Given the description of an element on the screen output the (x, y) to click on. 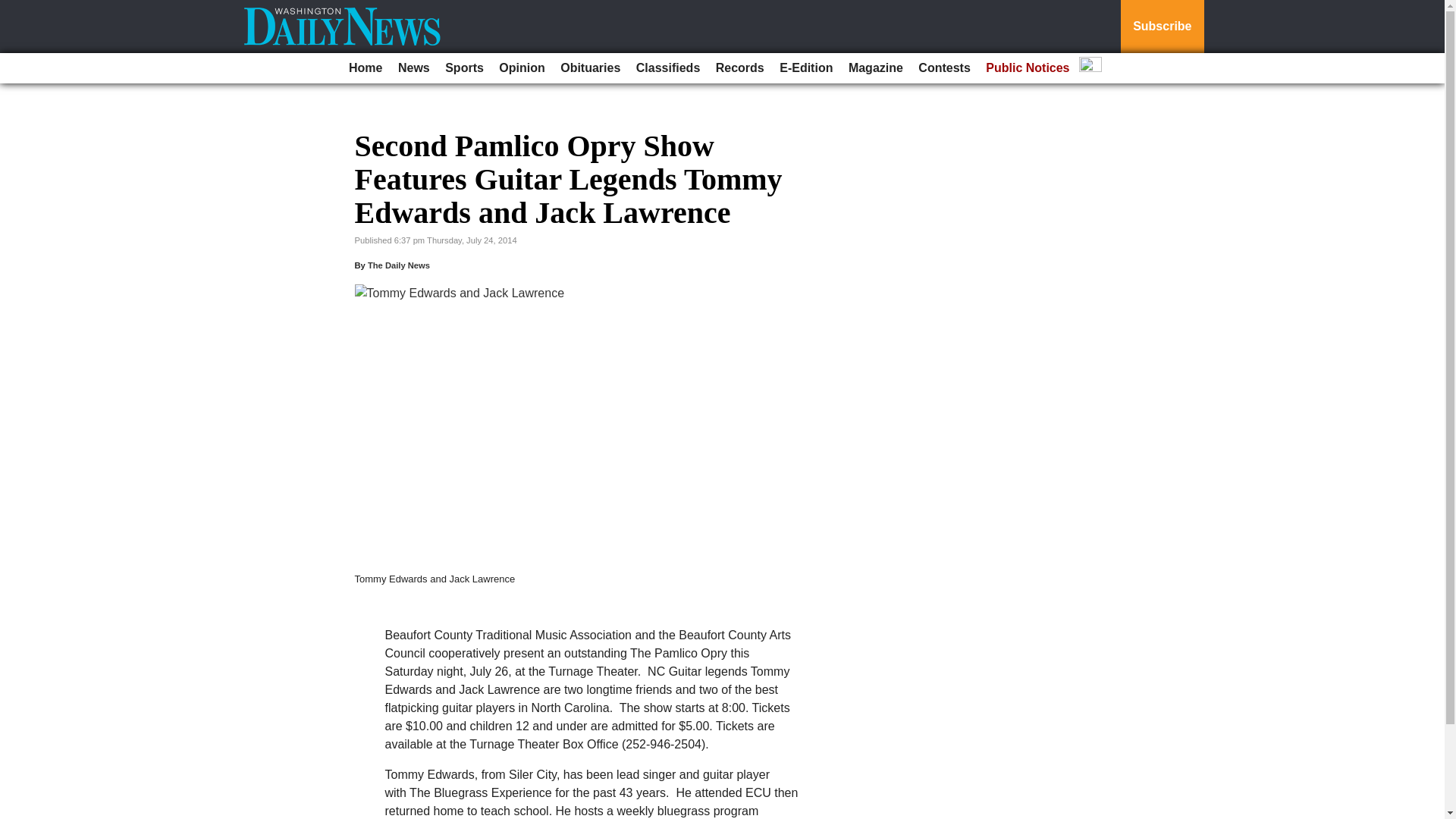
Obituaries (590, 68)
The Daily News (398, 265)
Magazine (875, 68)
Go (13, 9)
Classifieds (668, 68)
Home (365, 68)
Sports (464, 68)
Records (740, 68)
Subscribe (1162, 26)
News (413, 68)
